Given the description of an element on the screen output the (x, y) to click on. 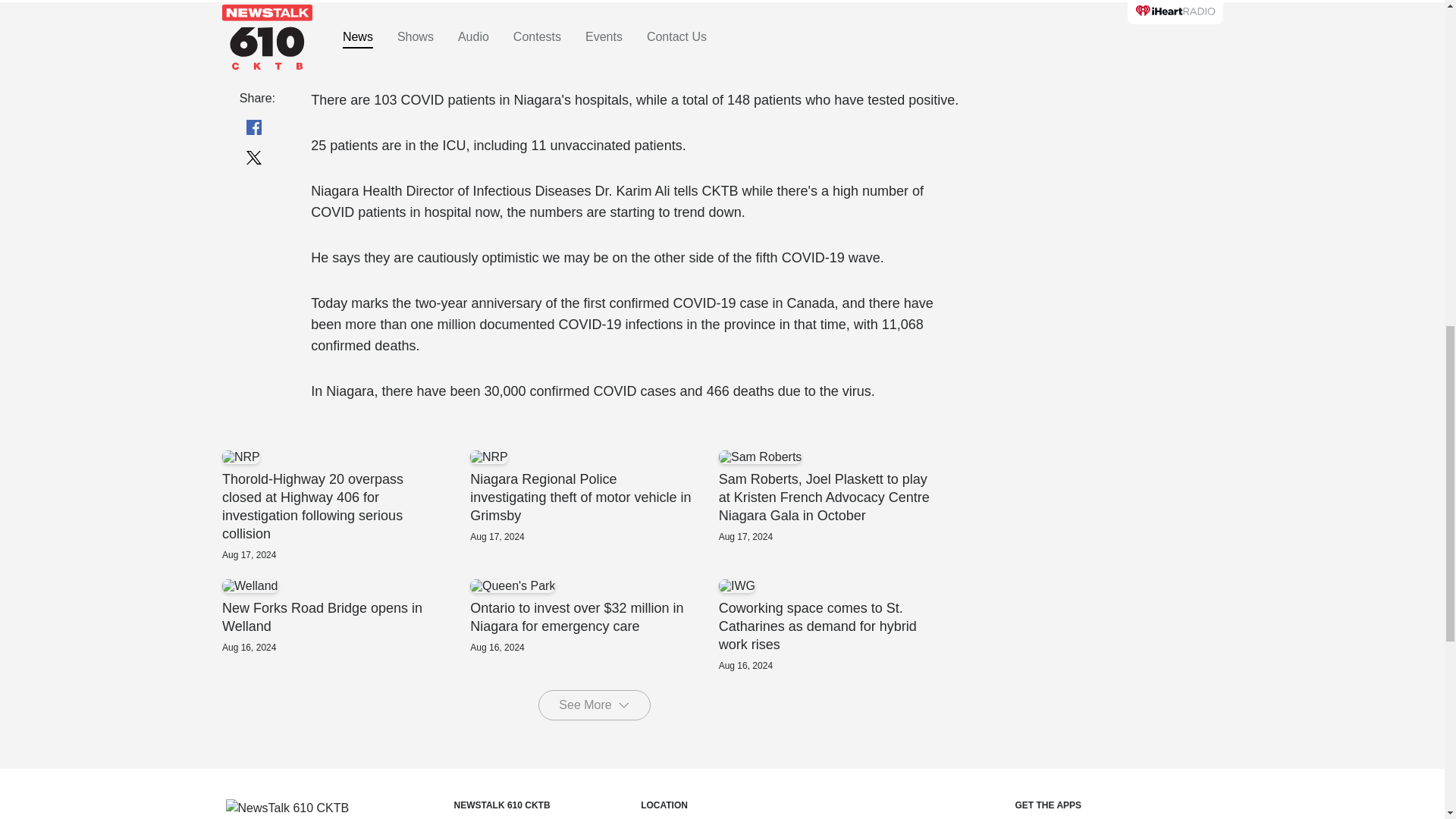
See More (344, 616)
